Given the description of an element on the screen output the (x, y) to click on. 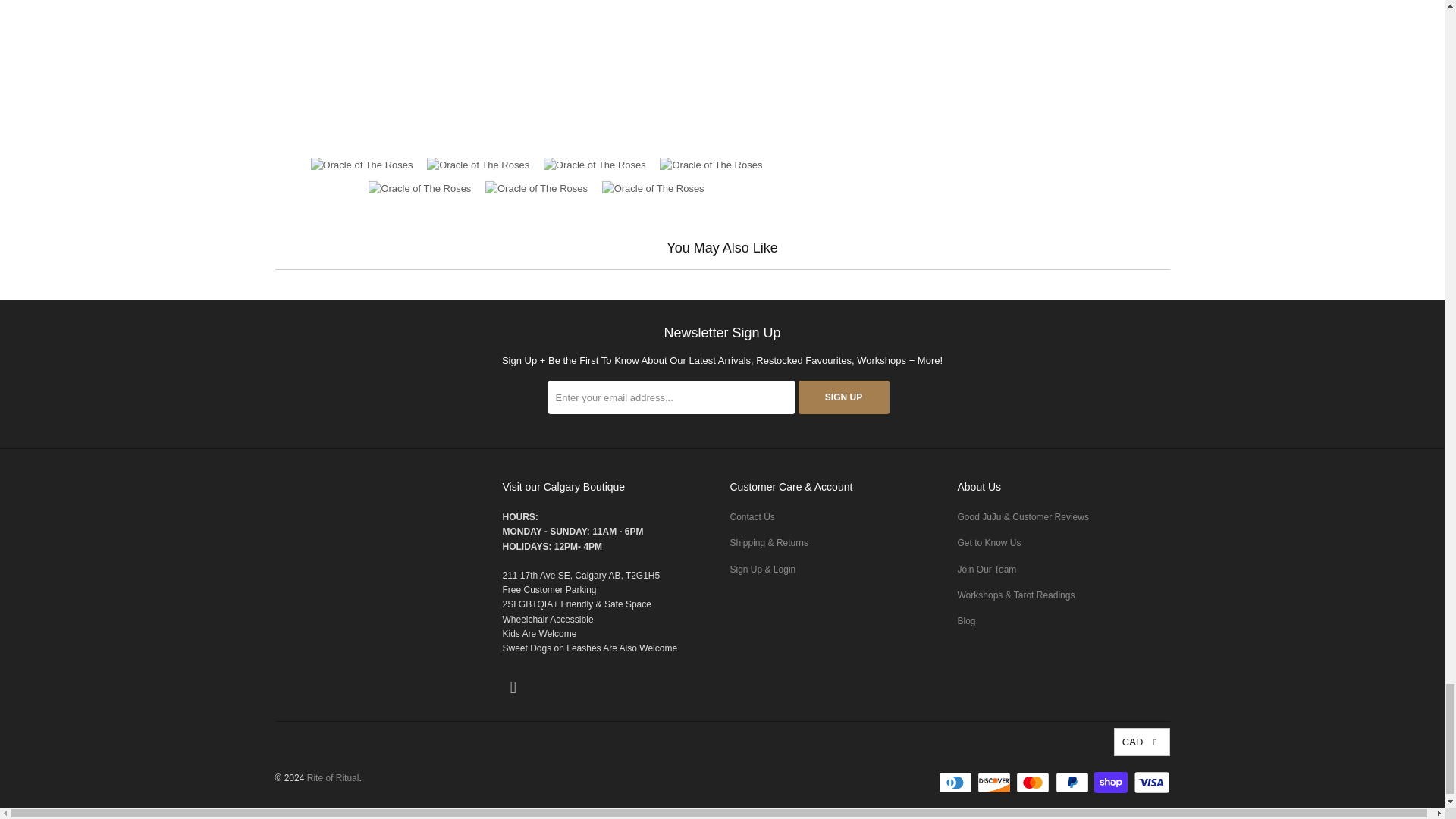
Diners Club (957, 782)
Mastercard (1034, 782)
Visa (1150, 782)
Discover (994, 782)
PayPal (1073, 782)
Sign Up (842, 397)
Rite of Ritual on Instagram (513, 687)
Shop Pay (1112, 782)
